Given the description of an element on the screen output the (x, y) to click on. 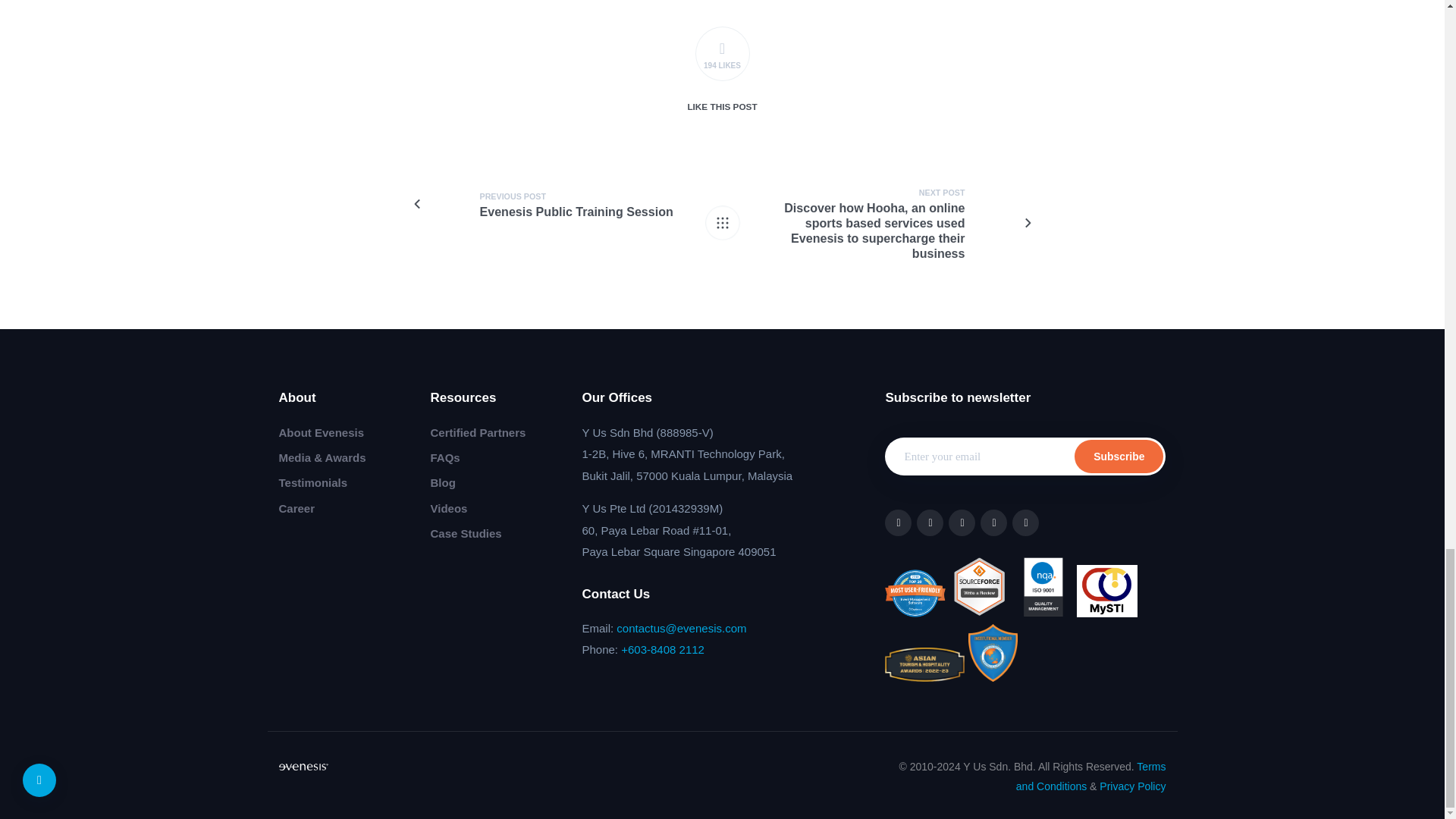
Like (722, 53)
Subscribe (1118, 456)
Back (721, 222)
